Given the description of an element on the screen output the (x, y) to click on. 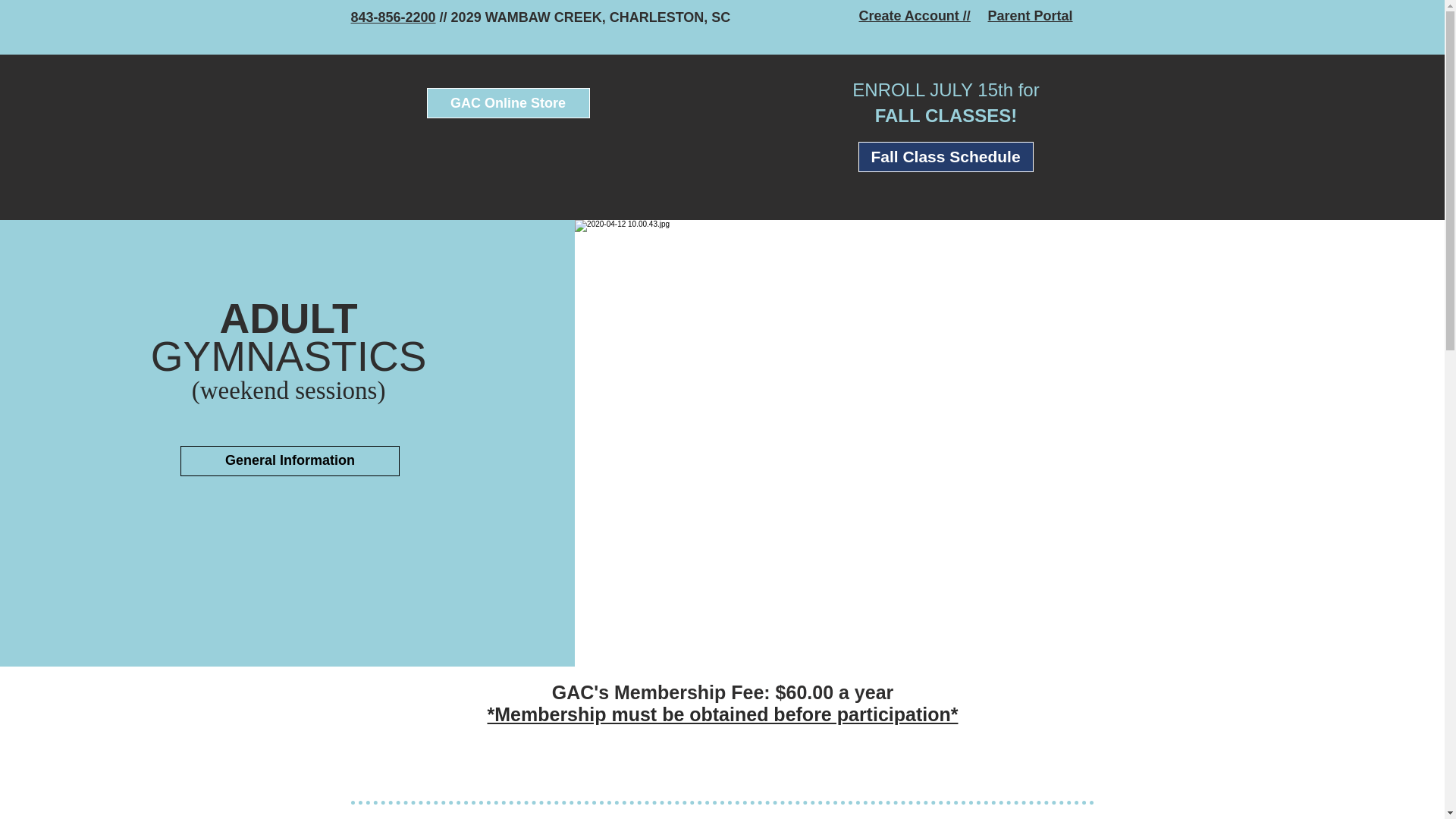
843-856-2200 (392, 17)
General Information (289, 460)
Parent Portal (1029, 15)
GAC Online Store (507, 102)
Fall Class Schedule (946, 156)
